Given the description of an element on the screen output the (x, y) to click on. 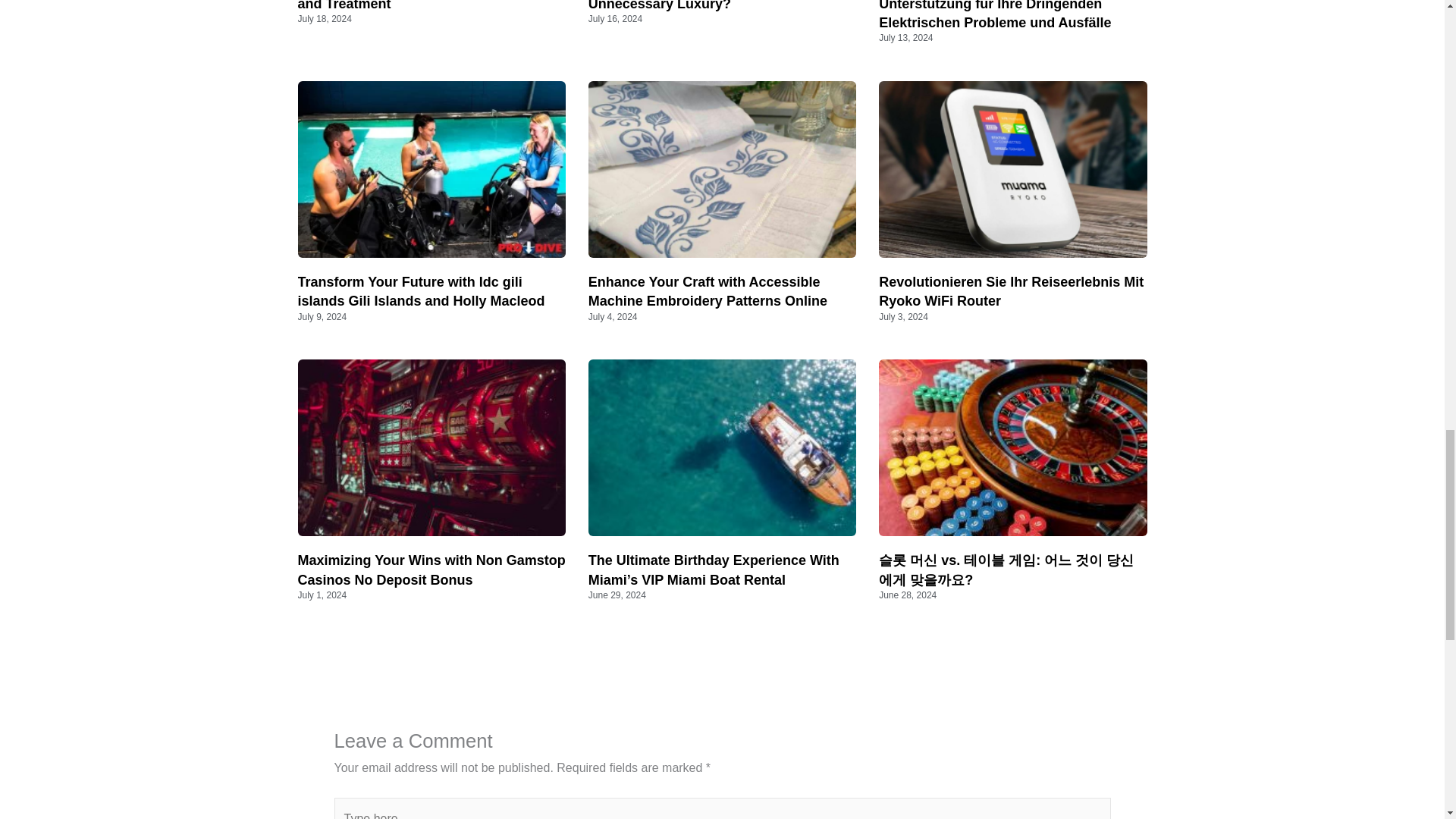
Dysautonomia: Symptoms, Diagnosis, and Treatment (421, 5)
Watch Winders: Essential Tool or Unnecessary Luxury? (695, 5)
Revolutionieren Sie Ihr Reiseerlebnis Mit Ryoko WiFi Router (1010, 291)
